Given the description of an element on the screen output the (x, y) to click on. 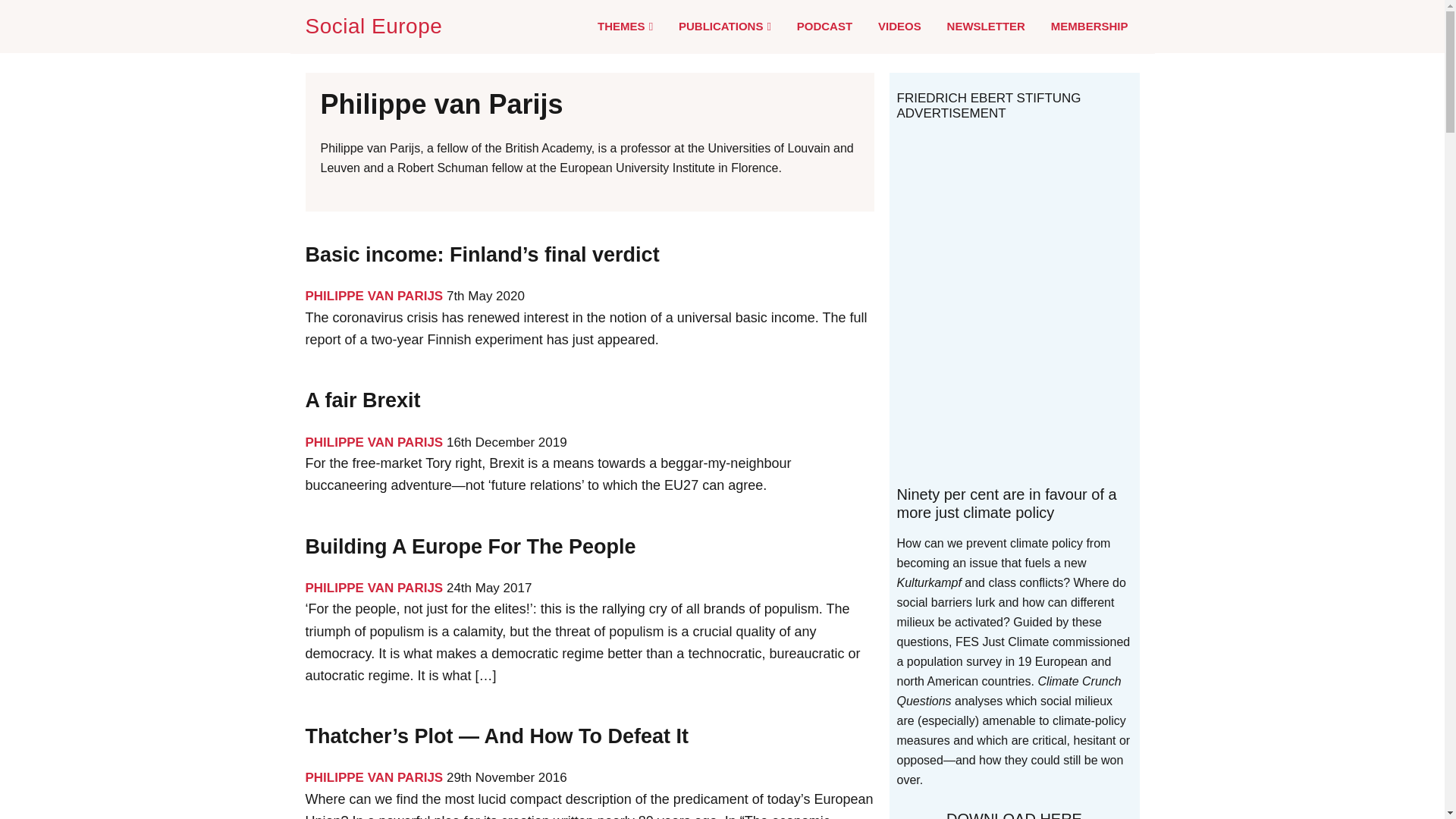
PHILIPPE VAN PARIJS (373, 777)
VIDEOS (899, 25)
Social Europe (376, 26)
MEMBERSHIP (1089, 25)
PODCAST (824, 25)
NEWSLETTER (986, 25)
A fair Brexit (362, 400)
THEMES (624, 26)
PUBLICATIONS (724, 26)
PHILIPPE VAN PARIJS (373, 296)
